Given the description of an element on the screen output the (x, y) to click on. 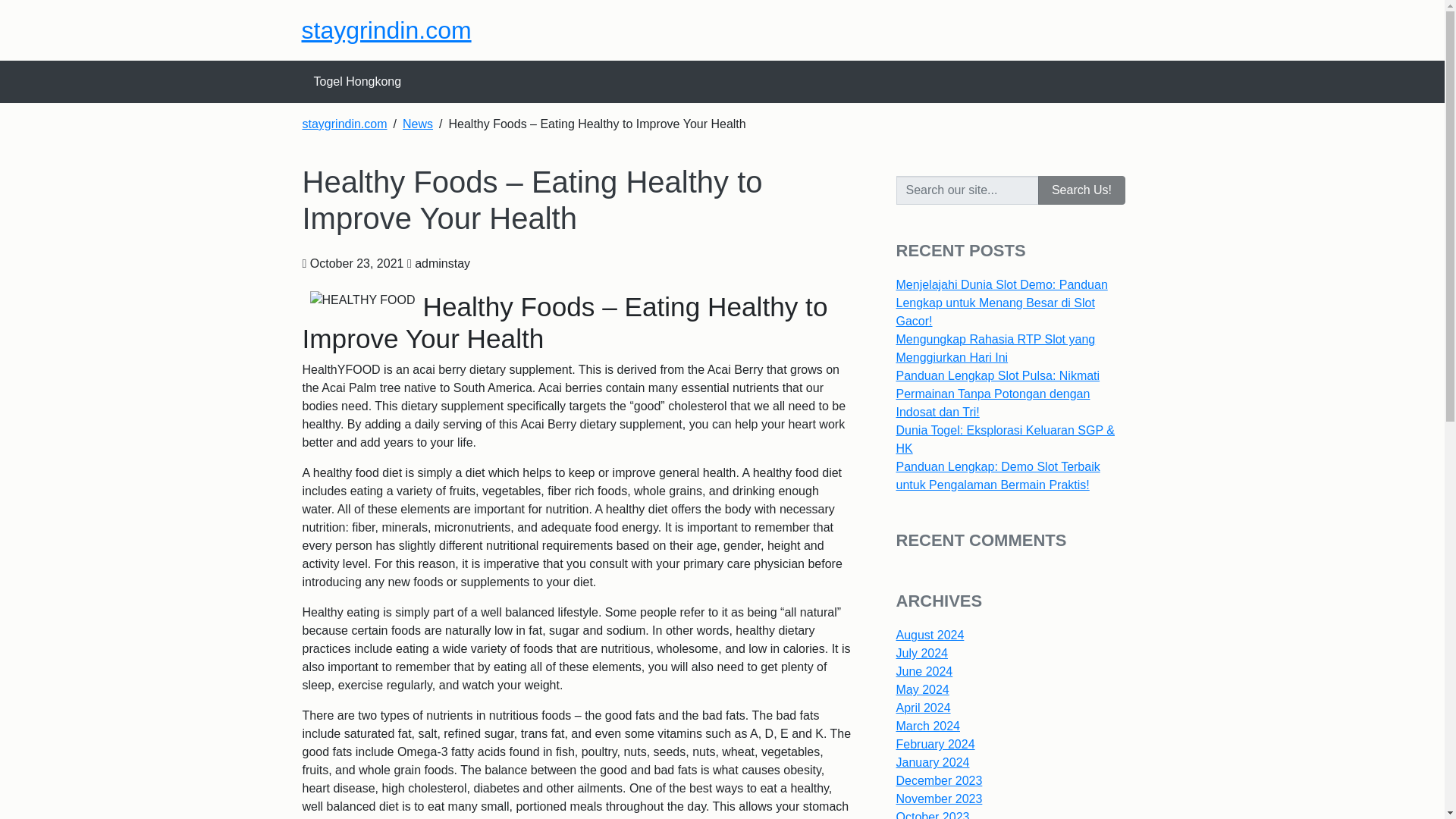
Togel Hongkong (357, 81)
July 2024 (922, 653)
November 2023 (939, 798)
Togel Hongkong (357, 81)
 Search Us!  (1081, 190)
 Search Us!  (1081, 190)
Mengungkap Rahasia RTP Slot yang Menggiurkan Hari Ini (996, 347)
August 2024 (929, 634)
October 2023 (932, 814)
March 2024 (928, 725)
December 2023 (939, 780)
News (417, 123)
